Given the description of an element on the screen output the (x, y) to click on. 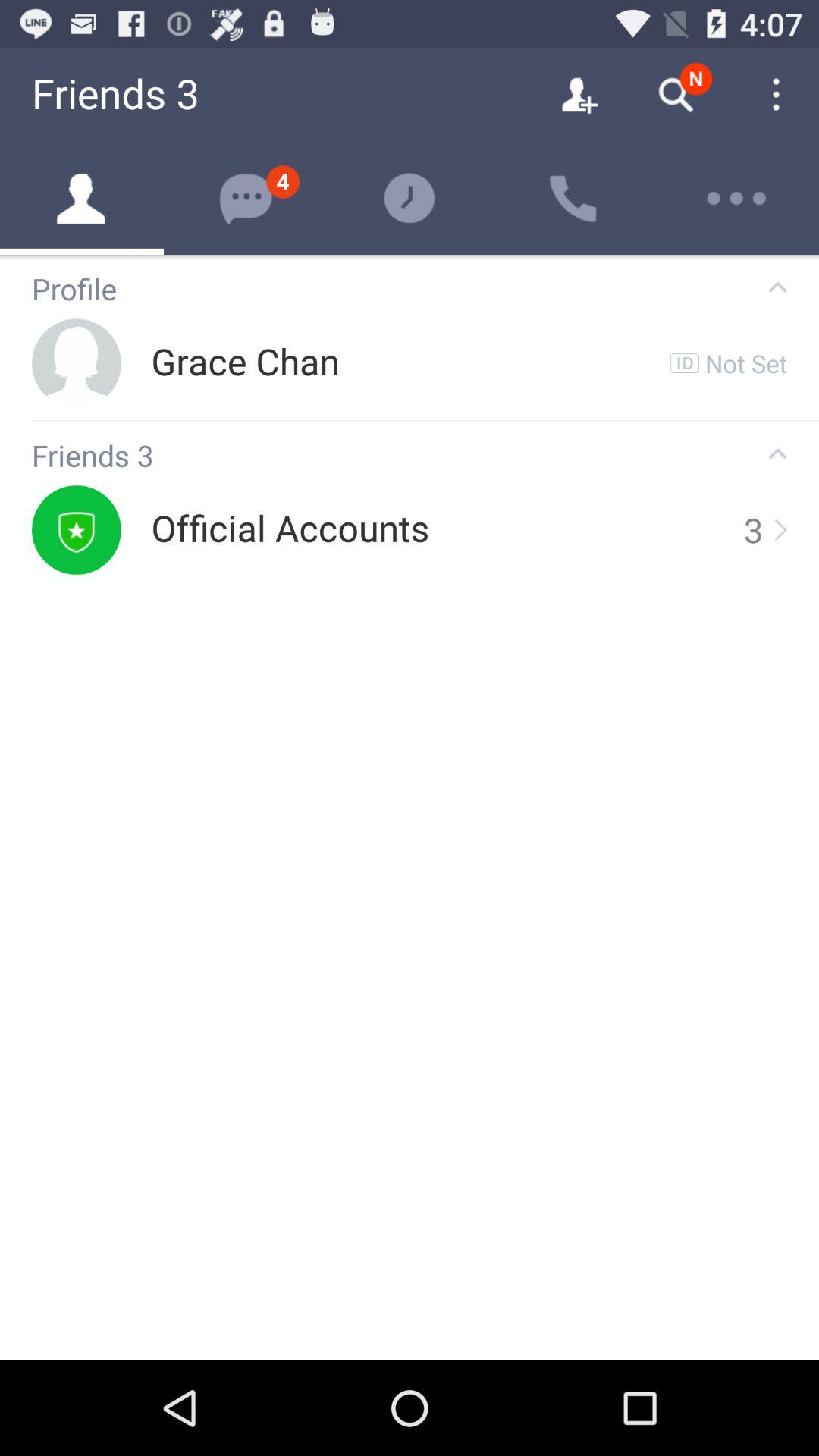
turn off the grace chan icon (245, 362)
